Given the description of an element on the screen output the (x, y) to click on. 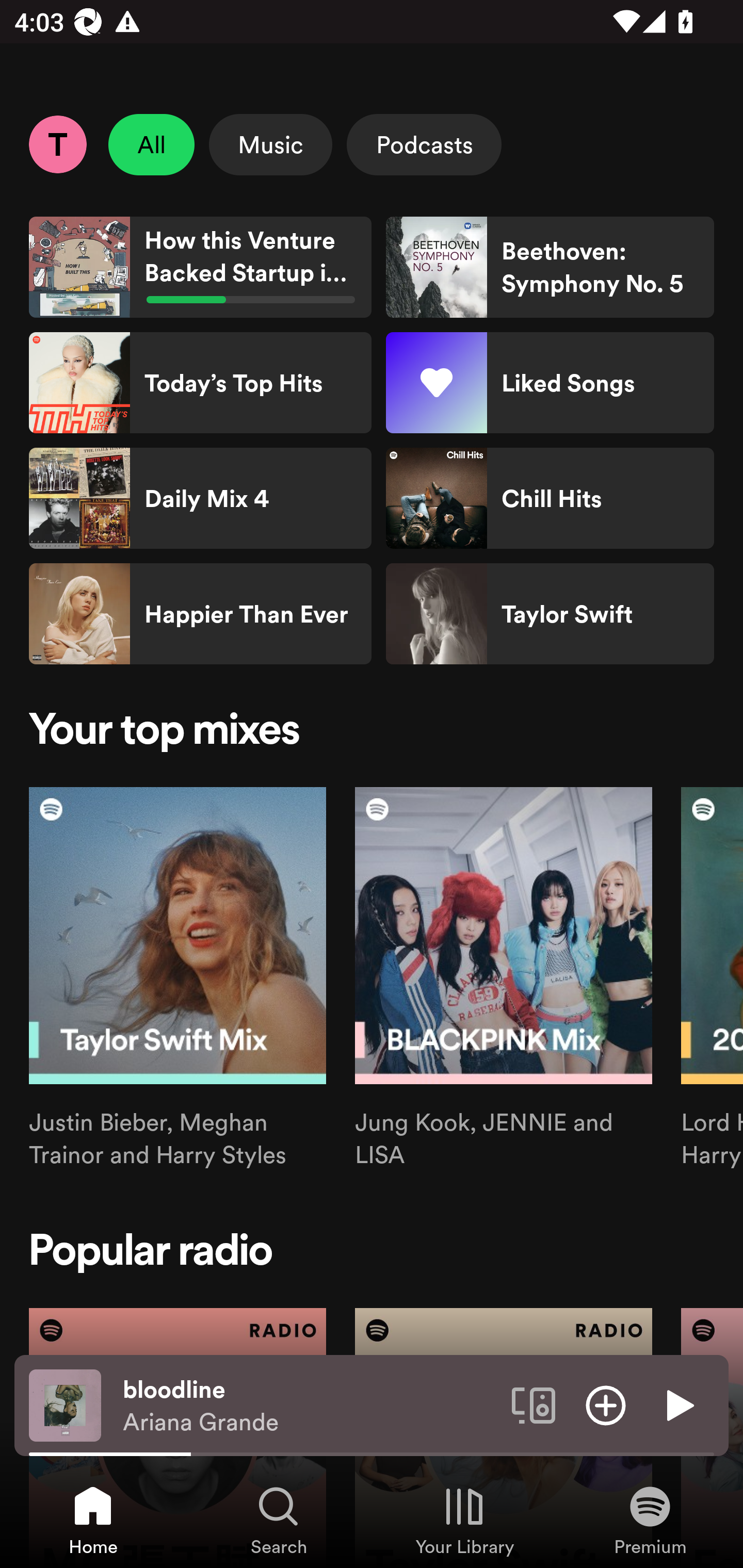
Profile (57, 144)
All Unselect All (151, 144)
Music Select Music (270, 144)
Podcasts Select Podcasts (423, 144)
Today’s Top Hits Shortcut Today’s Top Hits (199, 382)
Liked Songs Shortcut Liked Songs (549, 382)
Daily Mix 4 Shortcut Daily Mix 4 (199, 498)
Chill Hits Shortcut Chill Hits (549, 498)
Happier Than Ever Shortcut Happier Than Ever (199, 613)
Taylor Swift Shortcut Taylor Swift (549, 613)
bloodline Ariana Grande (309, 1405)
The cover art of the currently playing track (64, 1404)
Connect to a device. Opens the devices menu (533, 1404)
Add item (605, 1404)
Play (677, 1404)
Home, Tab 1 of 4 Home Home (92, 1519)
Search, Tab 2 of 4 Search Search (278, 1519)
Your Library, Tab 3 of 4 Your Library Your Library (464, 1519)
Premium, Tab 4 of 4 Premium Premium (650, 1519)
